Given the description of an element on the screen output the (x, y) to click on. 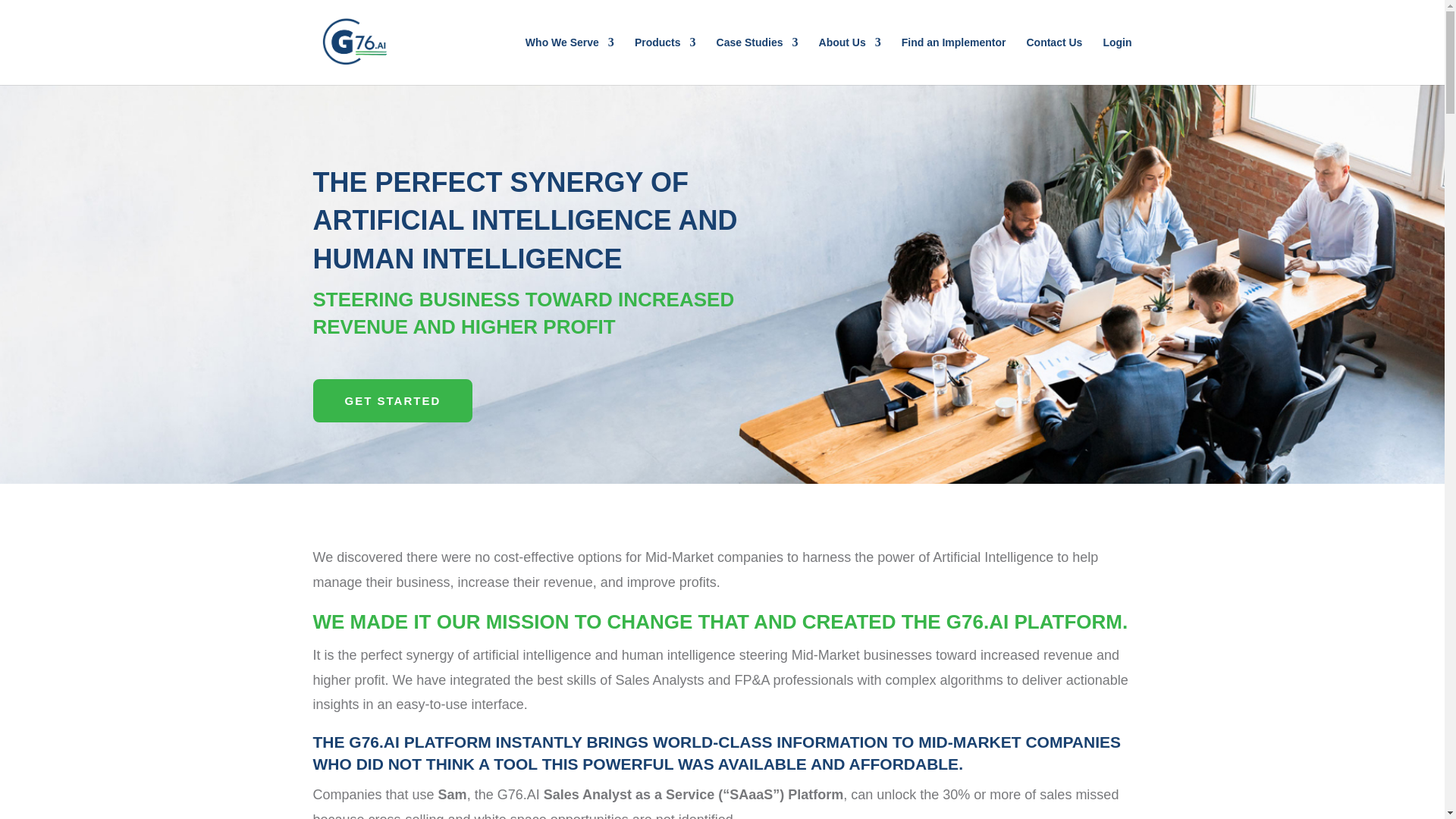
Products (664, 60)
GET STARTED (392, 401)
Contact Us (1053, 60)
About Us (849, 60)
Find an Implementor (953, 60)
Who We Serve (569, 60)
Case Studies (756, 60)
